Given the description of an element on the screen output the (x, y) to click on. 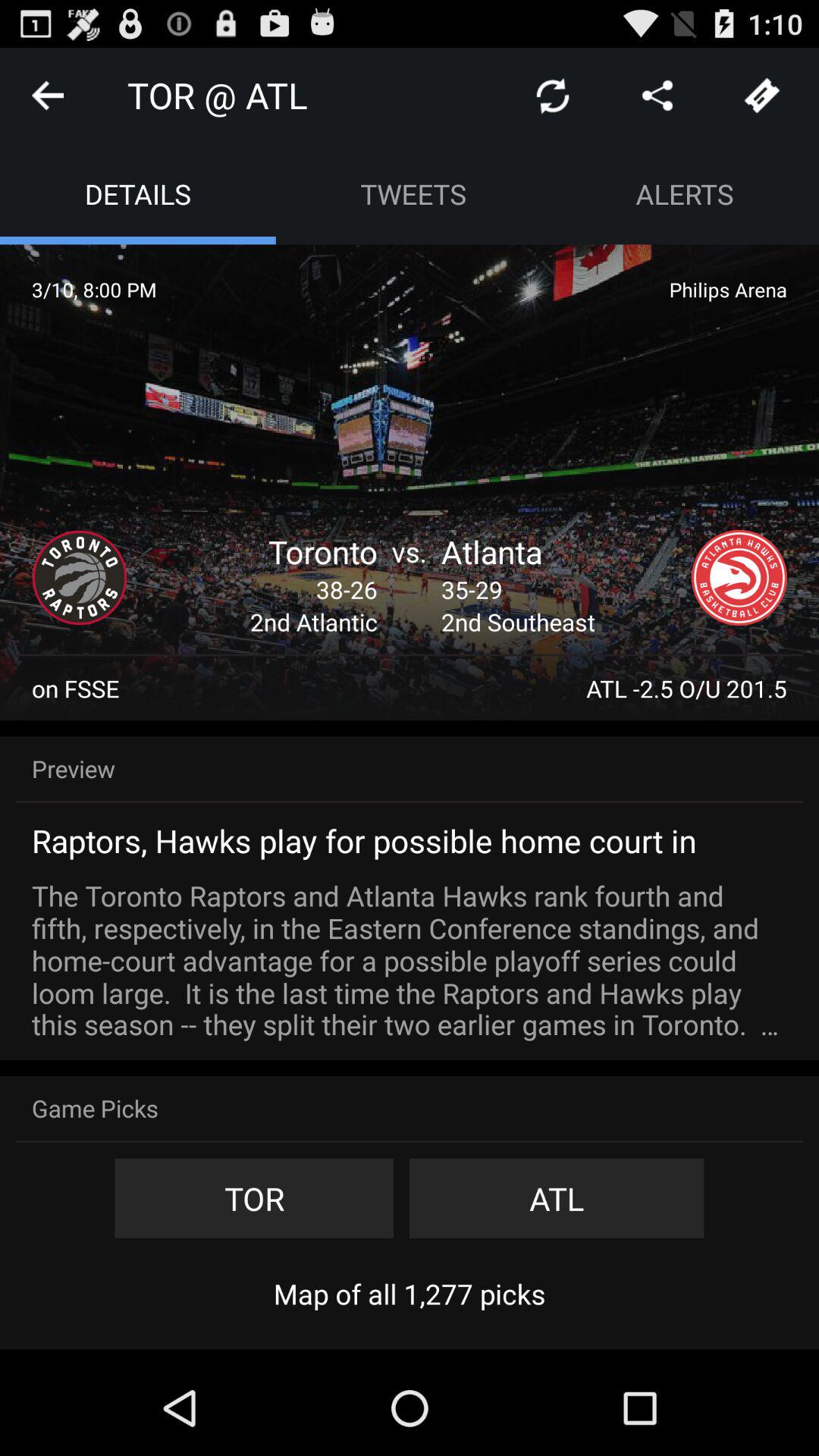
click the item below tor icon (409, 1293)
